Given the description of an element on the screen output the (x, y) to click on. 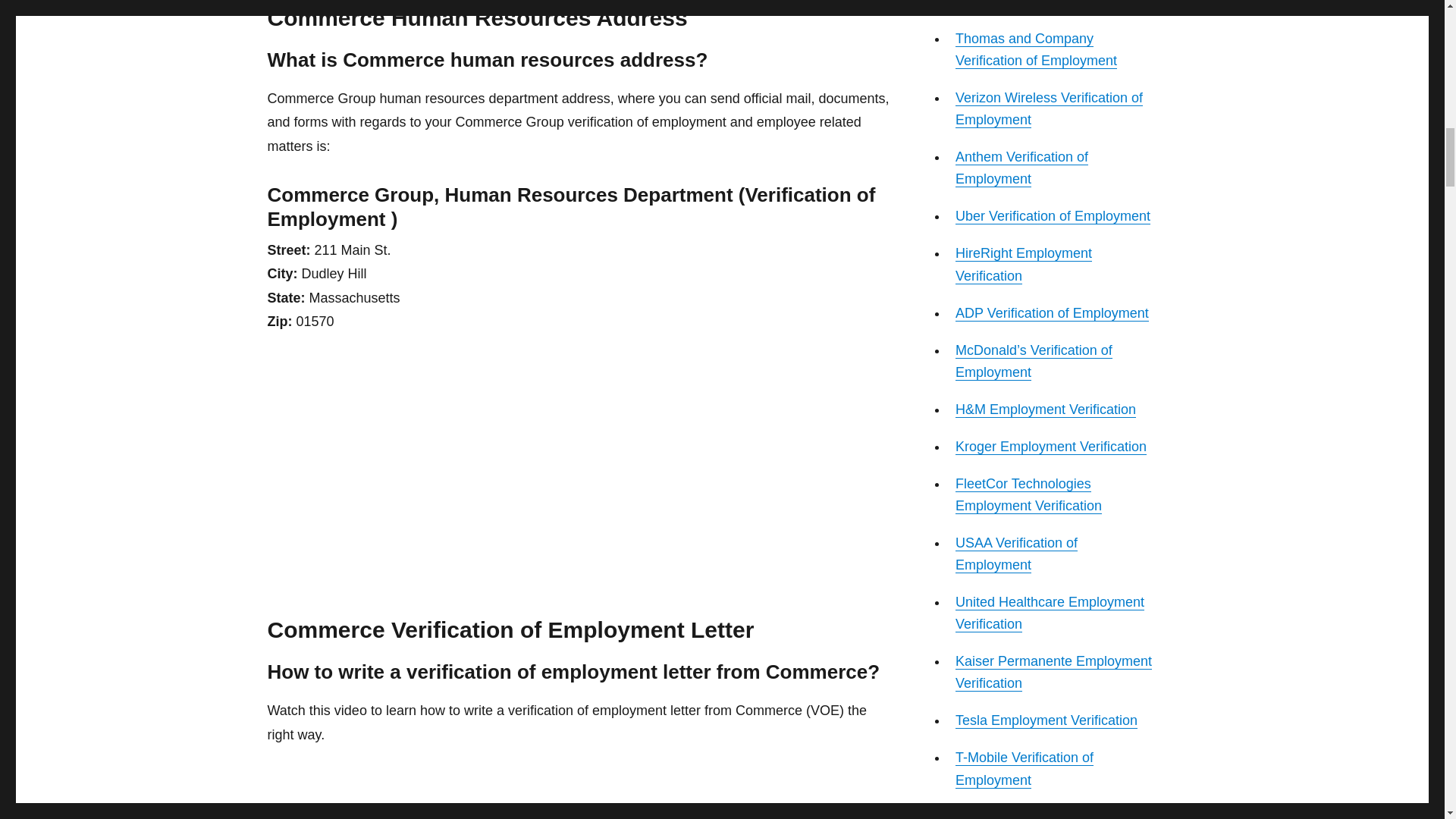
USAA Verification of Employment (1016, 553)
HireRight Employment Verification (1023, 263)
Amazon Verification of Employment (1022, 4)
Kroger Employment Verification (1051, 446)
ADP Verification of Employment (1051, 313)
Anthem Verification of Employment (1021, 167)
Uber Verification of Employment (1052, 215)
FleetCor Technologies Employment Verification (1028, 494)
Thomas and Company Verification of Employment (1035, 49)
Verizon Wireless Verification of Employment (1048, 108)
